Given the description of an element on the screen output the (x, y) to click on. 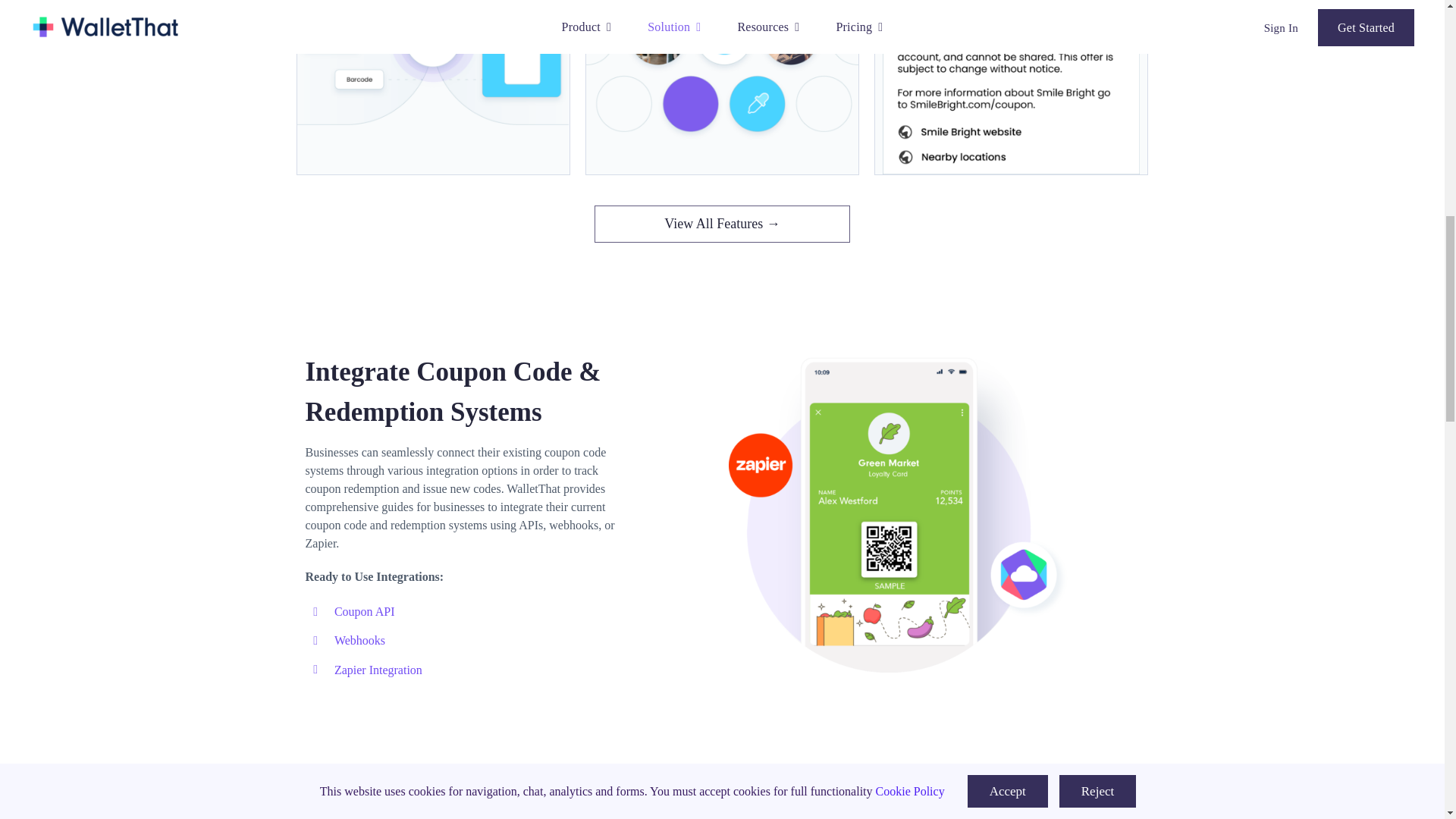
Coupon API (364, 611)
Zapier Integration (378, 669)
Integrate Point of Sale Systems (899, 506)
Add Clickable Links (1011, 87)
Personalize Digital Coupons (433, 68)
Webhooks (359, 640)
Email Issuance Integrations (505, 787)
Design Coupons to Match Your Brand (722, 69)
